Given the description of an element on the screen output the (x, y) to click on. 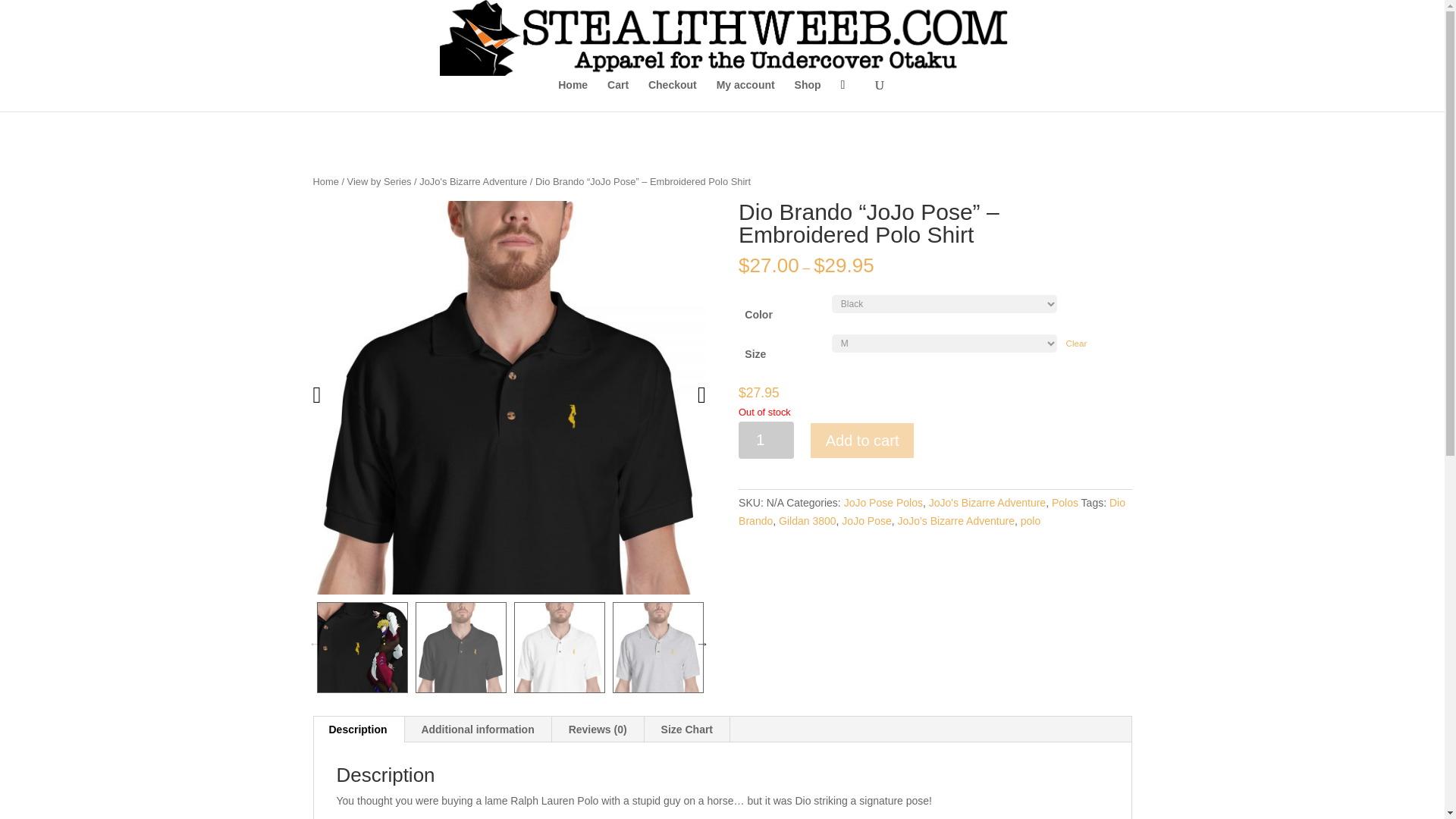
Description (358, 729)
Home (572, 95)
Polos (1064, 502)
Gildan 3800 (806, 521)
Size Chart (687, 729)
polo (1030, 521)
My account (745, 95)
Dio Brando (931, 511)
Additional information (477, 729)
Next (702, 643)
Checkout (672, 95)
Add to cart (862, 440)
JoJo Pose Polos (883, 502)
JoJo's Bizarre Adventure (986, 502)
